Given the description of an element on the screen output the (x, y) to click on. 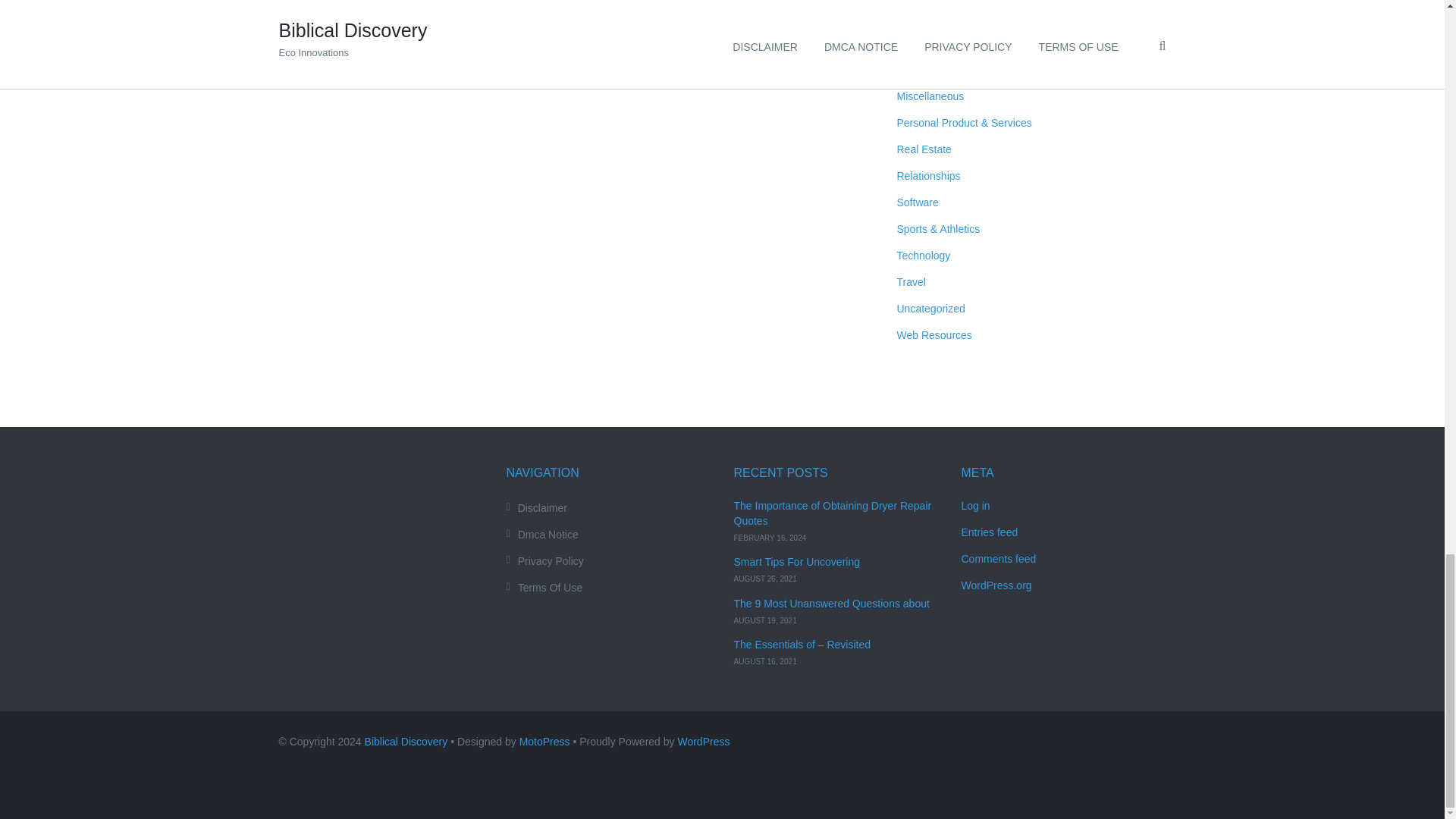
Semantic Personal Publishing Platform (703, 741)
Premium WordPress Plugins and Themes (544, 741)
Biblical Discovery (406, 741)
